Given the description of an element on the screen output the (x, y) to click on. 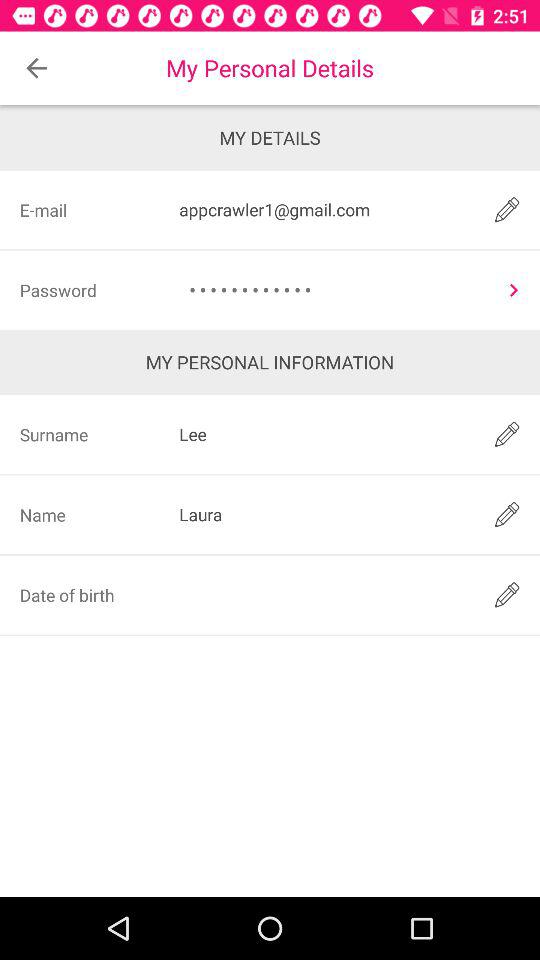
edit option (506, 594)
